Given the description of an element on the screen output the (x, y) to click on. 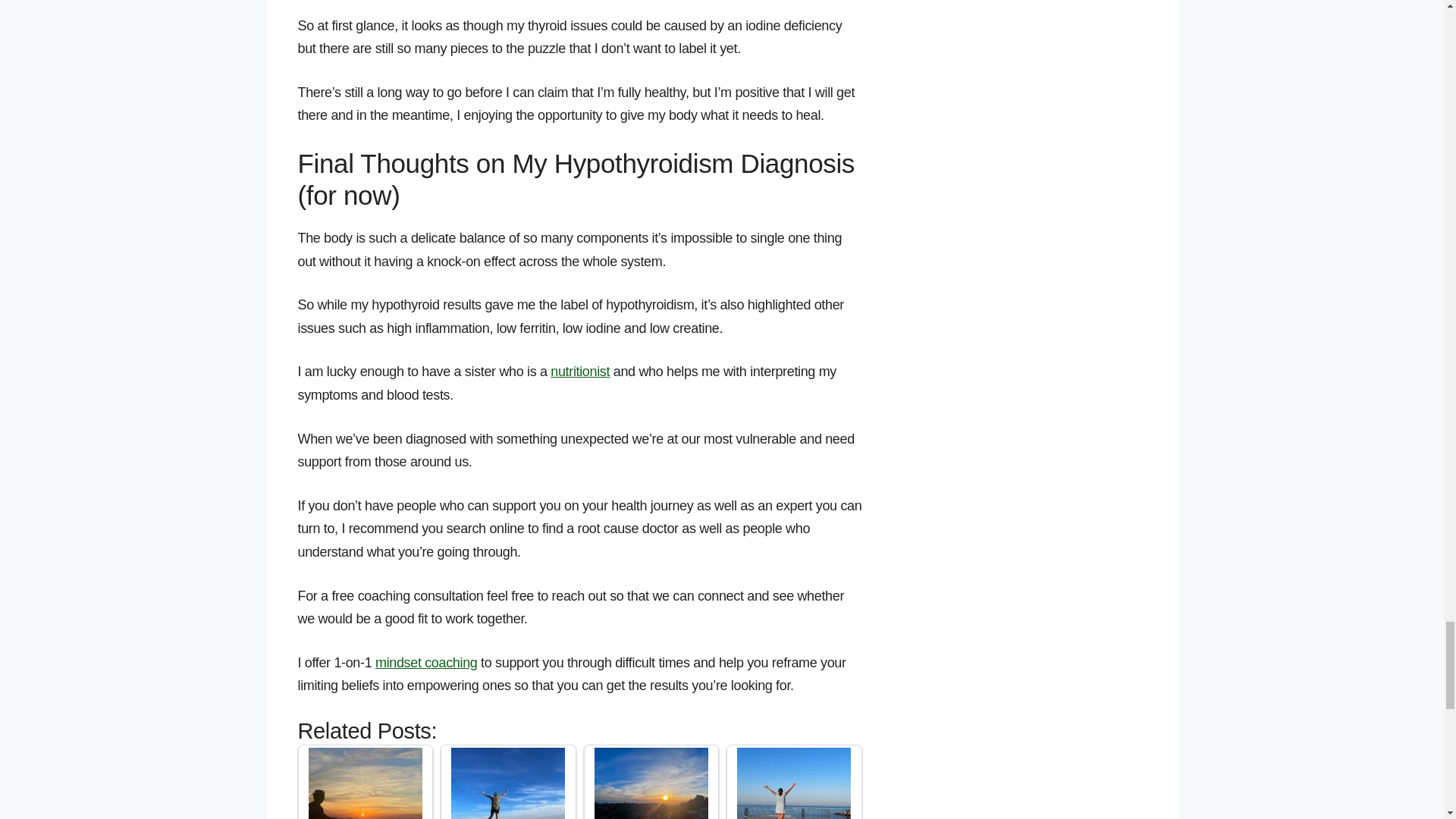
Mindset Coaching to Achieve Your Goals (793, 783)
My Symptoms Before the Hypothyroidism Diagnosis (365, 783)
